Given the description of an element on the screen output the (x, y) to click on. 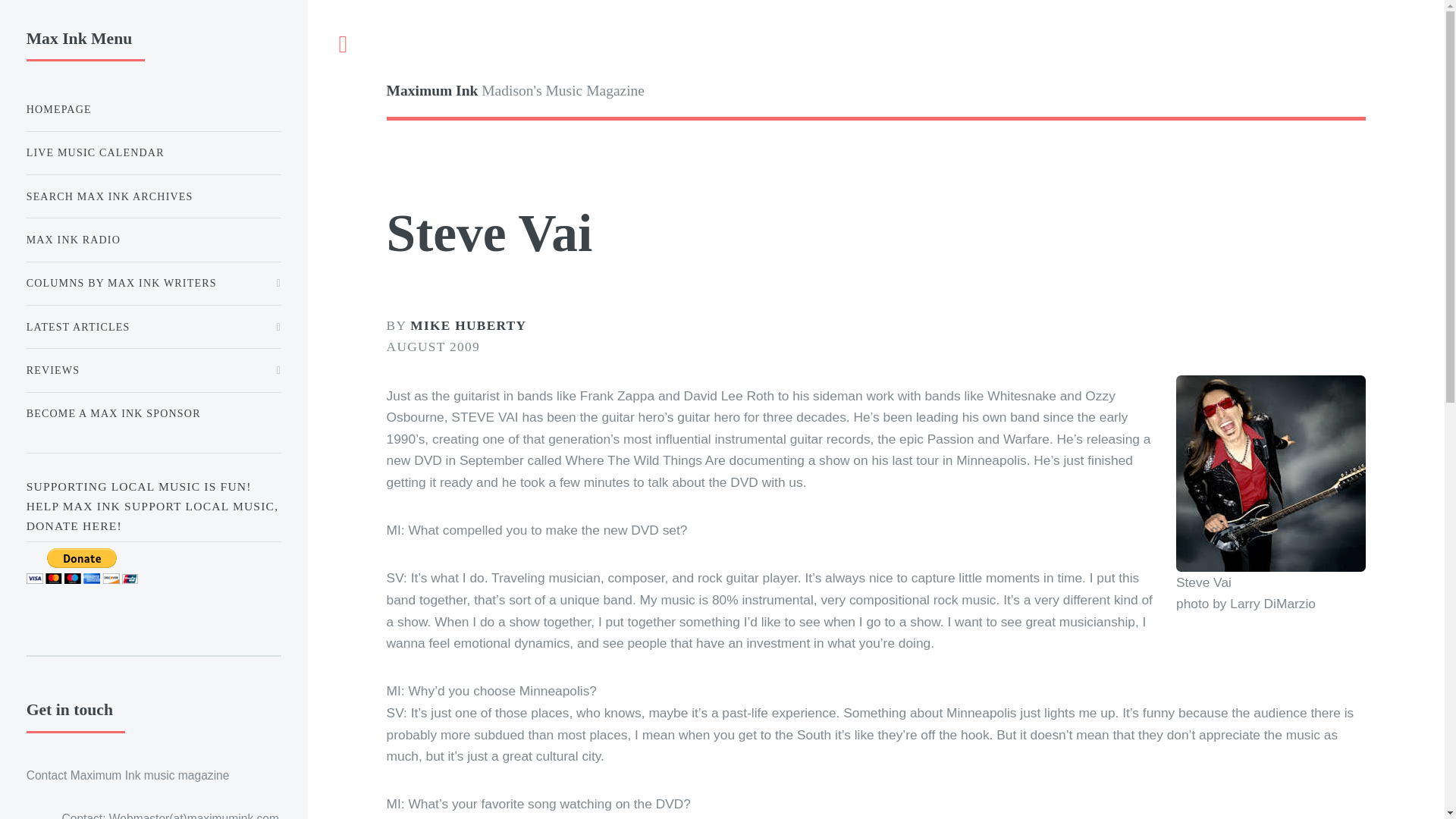
Maximum Ink Madison's Music Magazine (631, 90)
LIVE MUSIC CALENDAR (153, 153)
HOMEPAGE (153, 109)
SEARCH MAX INK ARCHIVES (153, 196)
BECOME A MAX INK SPONSOR (153, 413)
Steve Vai  - photo by Larry DiMarzio (1270, 473)
MAX INK RADIO (153, 239)
